Given the description of an element on the screen output the (x, y) to click on. 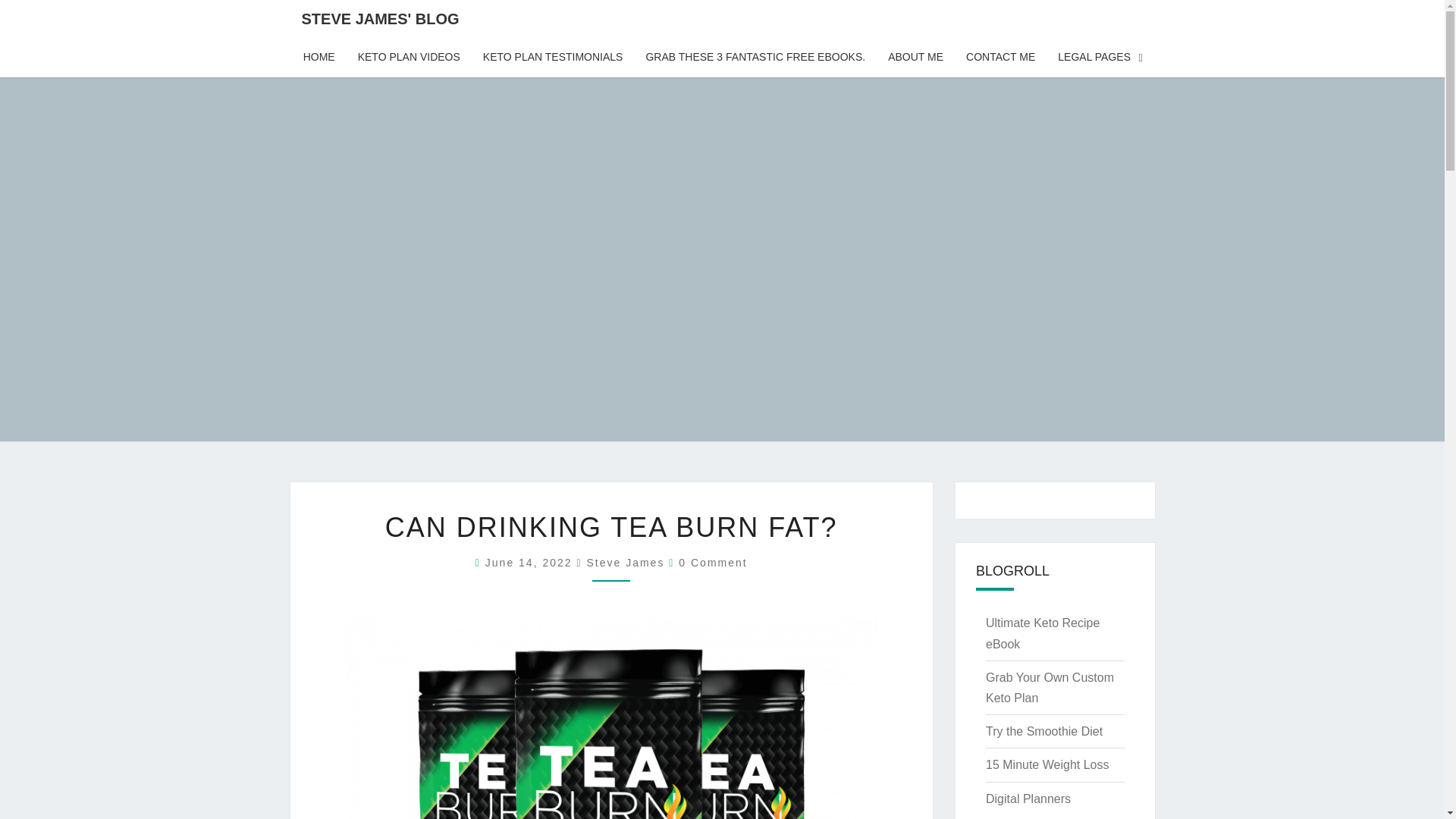
KETO PLAN TESTIMONIALS (552, 56)
Steve James (624, 562)
KETO PLAN VIDEOS (408, 56)
Digital Planners (1027, 798)
View all posts by Steve James (624, 562)
STEVE JAMES' BLOG (379, 18)
GRAB THESE 3 FANTASTIC FREE EBOOKS. (754, 56)
LEGAL PAGES (1100, 56)
15 Minute Weight Loss (1046, 764)
HOME (319, 56)
6:58 pm (530, 562)
ABOUT ME (915, 56)
Grab Your Own Custom Keto Plan (1049, 687)
CONTACT ME (1000, 56)
Ultimate Keto Recipe eBook (1042, 633)
